Given the description of an element on the screen output the (x, y) to click on. 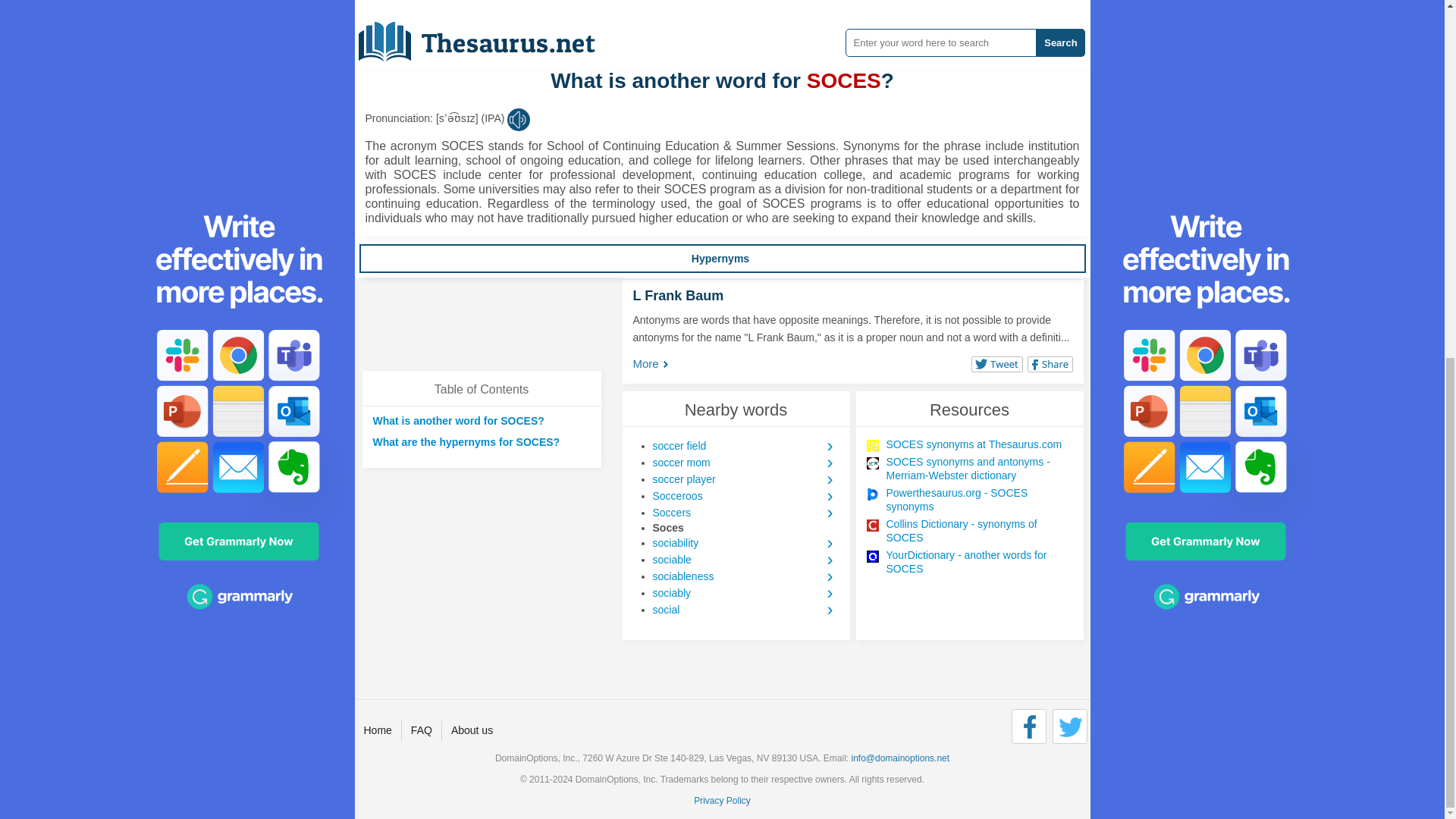
What is another word for SOCES? (458, 420)
Twitter (1069, 726)
sociableness (745, 576)
Collins Dictionary - synonyms of SOCES (978, 530)
Facebook (1028, 726)
SOCES synonyms at Thesaurus.com (978, 444)
Socceroos (745, 495)
soccer player (745, 478)
soccer field (745, 445)
About us (472, 729)
soccer mom (745, 462)
Soccers (745, 512)
secondary school (879, 214)
sociability (745, 542)
social (745, 609)
